Given the description of an element on the screen output the (x, y) to click on. 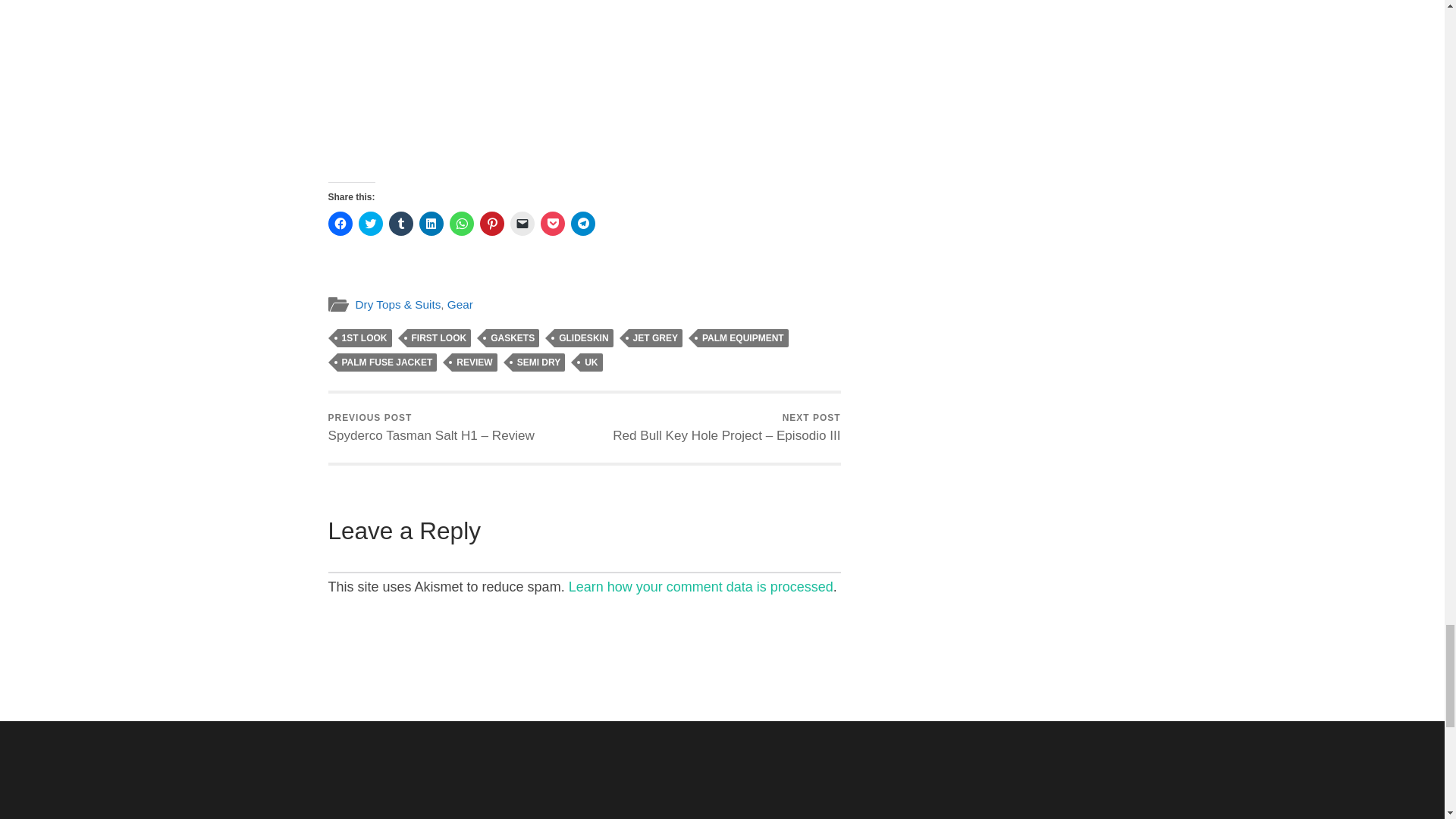
Click to share on Twitter (369, 223)
Click to share on Facebook (339, 223)
